Given the description of an element on the screen output the (x, y) to click on. 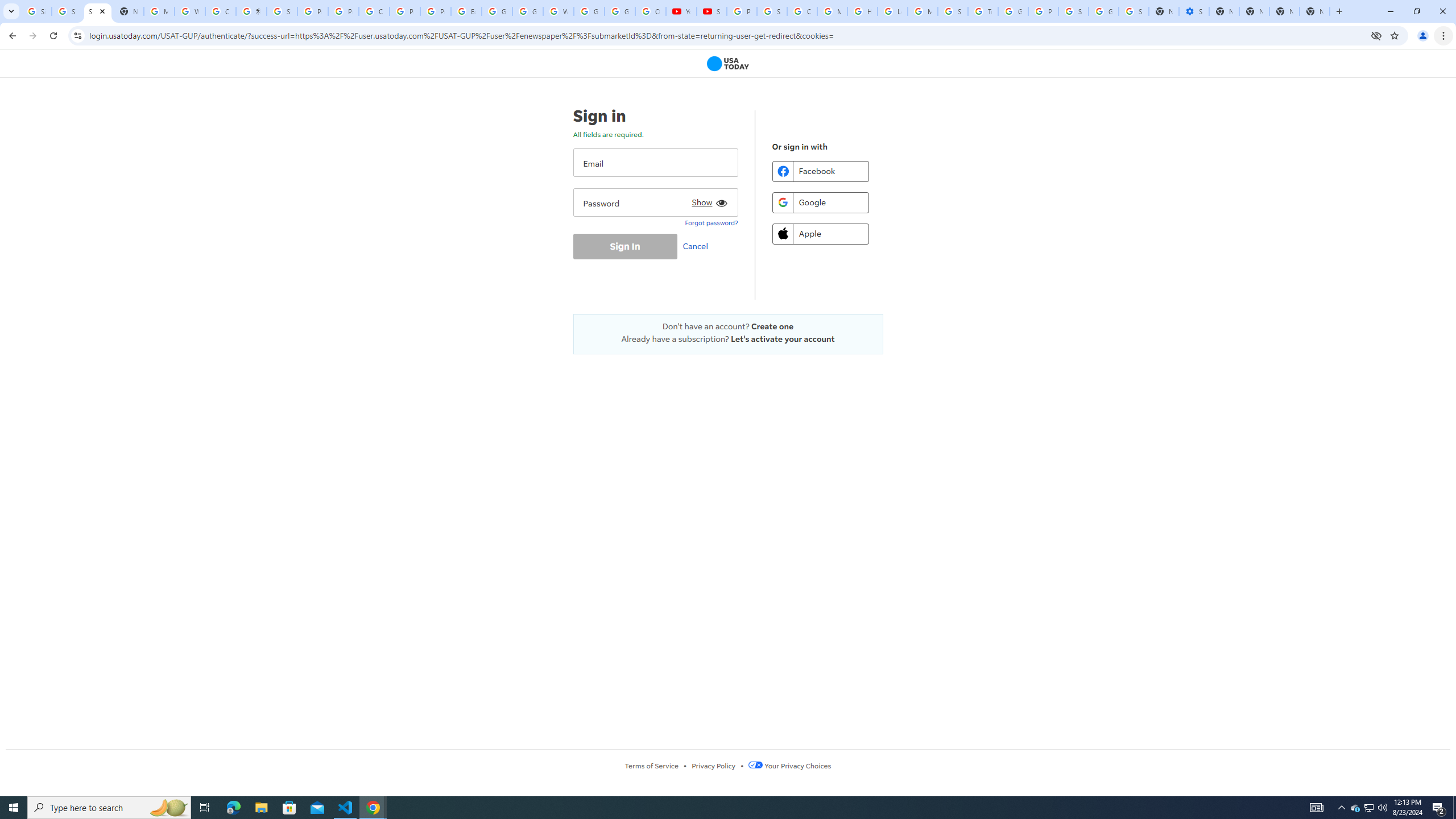
Subscriptions - YouTube (711, 11)
Cancel (697, 245)
Show (707, 200)
 Your Privacy Choices (789, 765)
Facebook (820, 170)
